Given the description of an element on the screen output the (x, y) to click on. 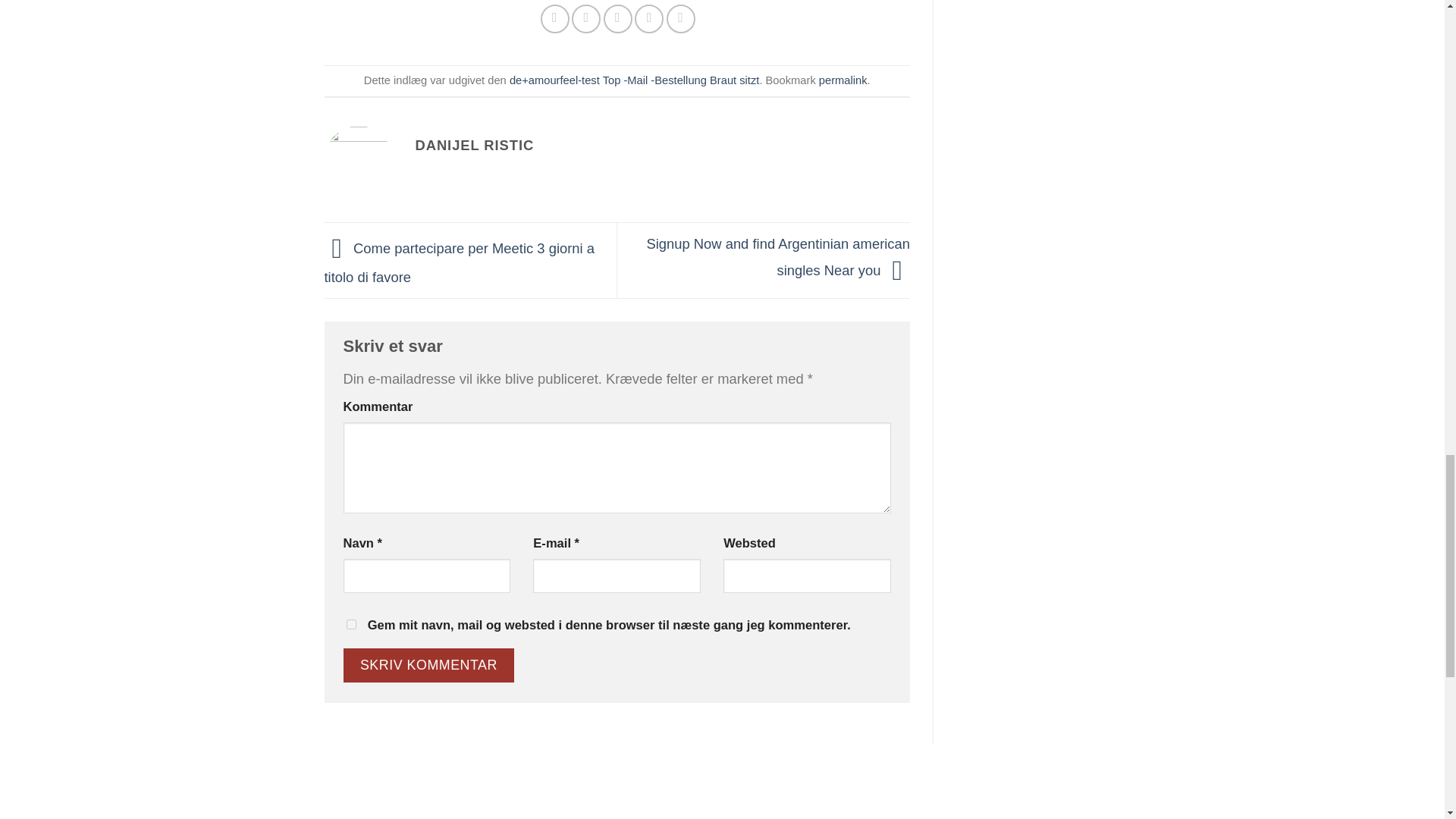
Come partecipare per Meetic 3 giorni a titolo di favore (459, 261)
Share on LinkedIn (680, 18)
Skriv kommentar (427, 665)
permalink (842, 80)
yes (350, 624)
Signup Now and find Argentinian american singles Near you (778, 256)
Skriv kommentar (427, 665)
Email en ven (617, 18)
